Given the description of an element on the screen output the (x, y) to click on. 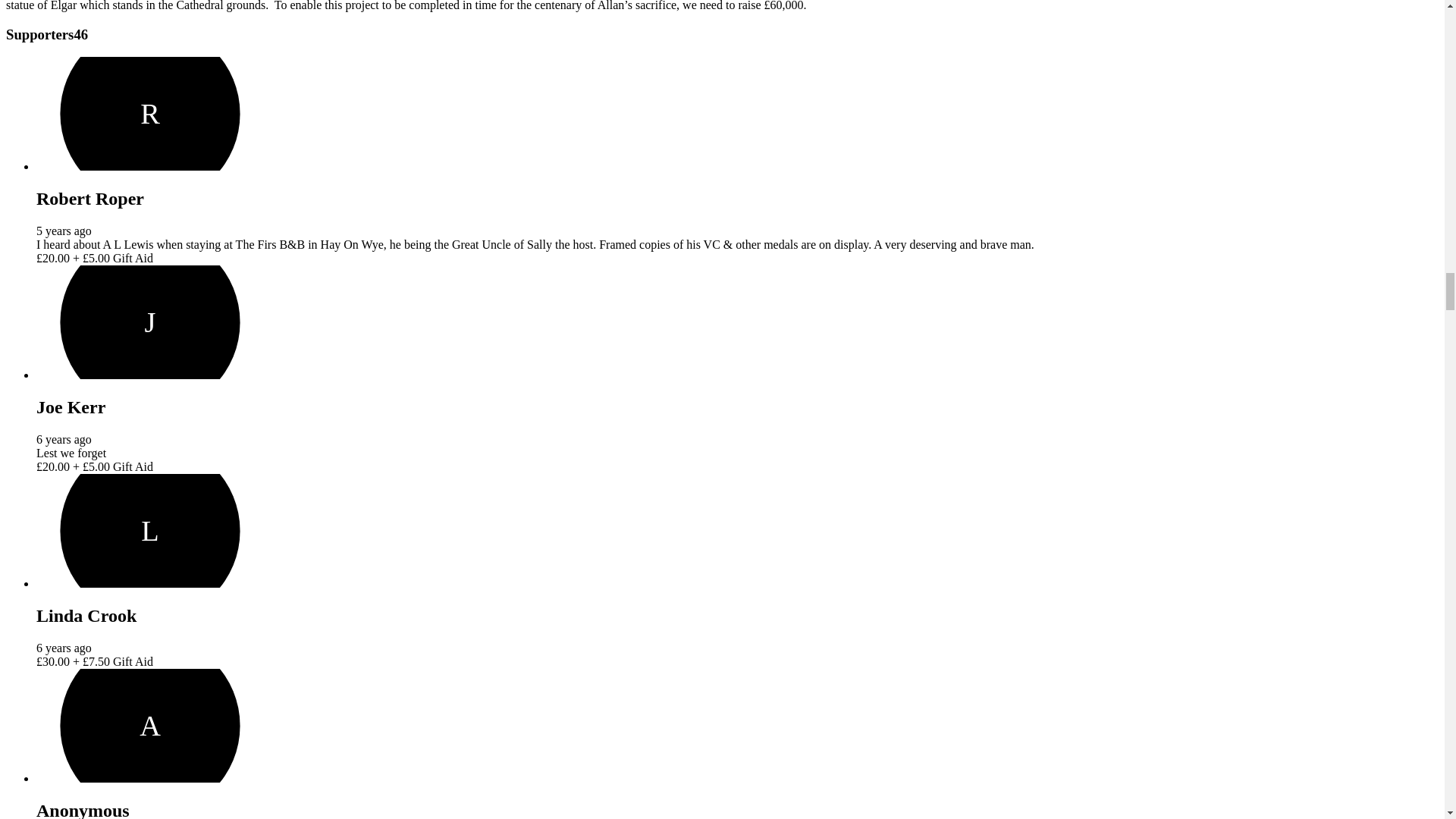
A (149, 725)
J (149, 322)
R (149, 113)
L (149, 531)
